Given the description of an element on the screen output the (x, y) to click on. 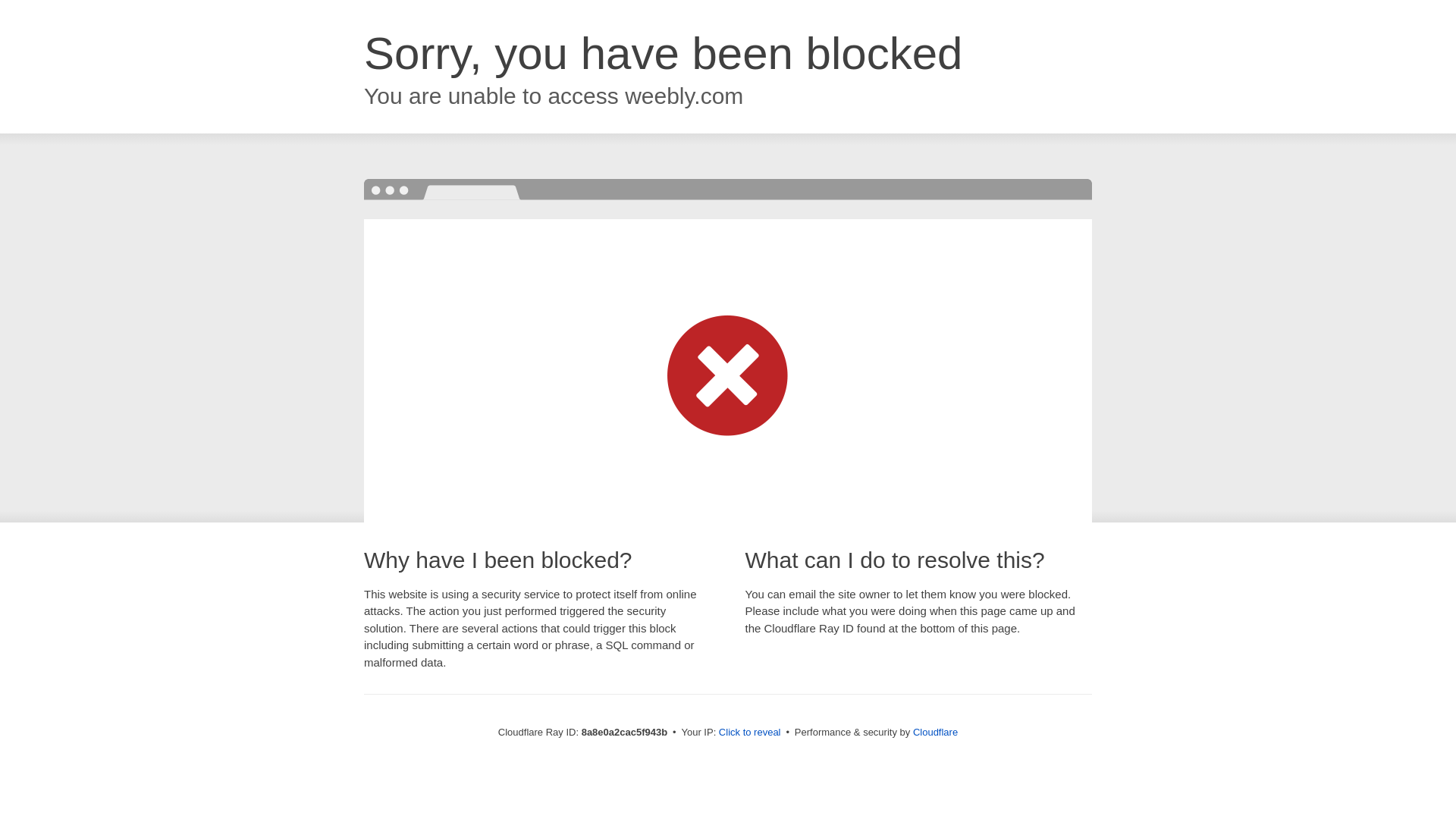
Cloudflare (935, 731)
Click to reveal (749, 732)
